Given the description of an element on the screen output the (x, y) to click on. 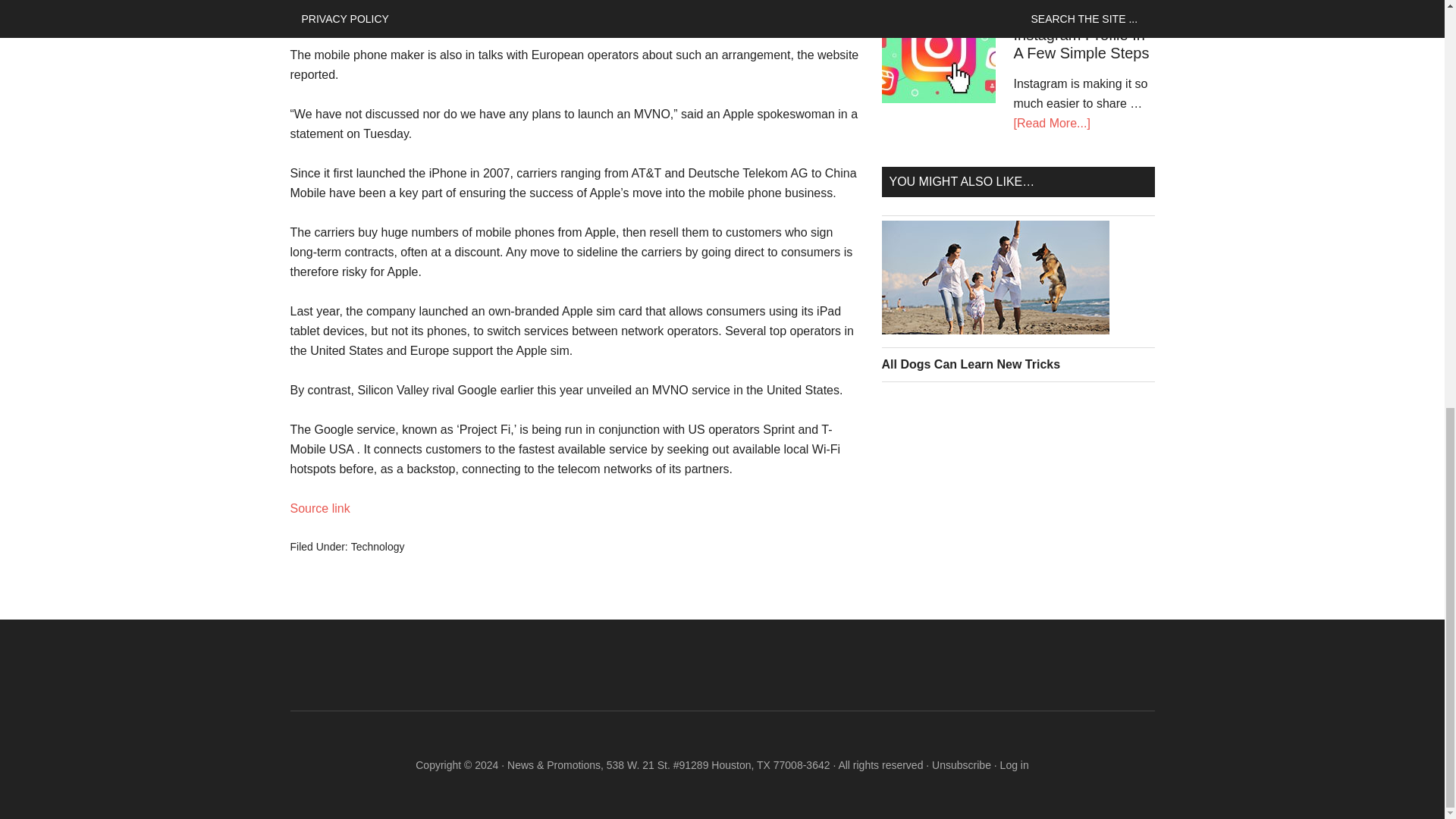
Technology (377, 546)
Source link (319, 508)
